Given the description of an element on the screen output the (x, y) to click on. 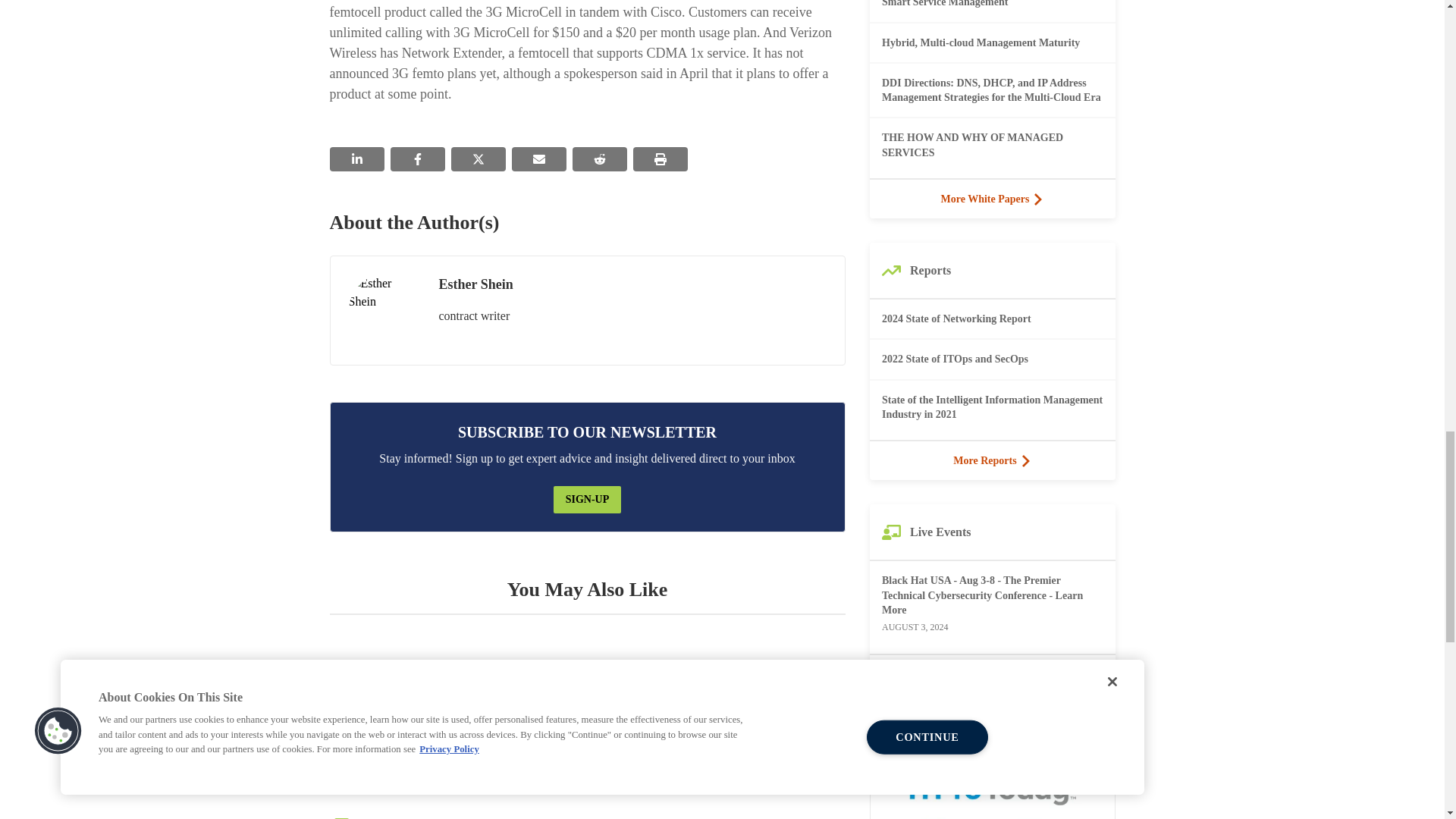
Esther Shein (384, 310)
